Given the description of an element on the screen output the (x, y) to click on. 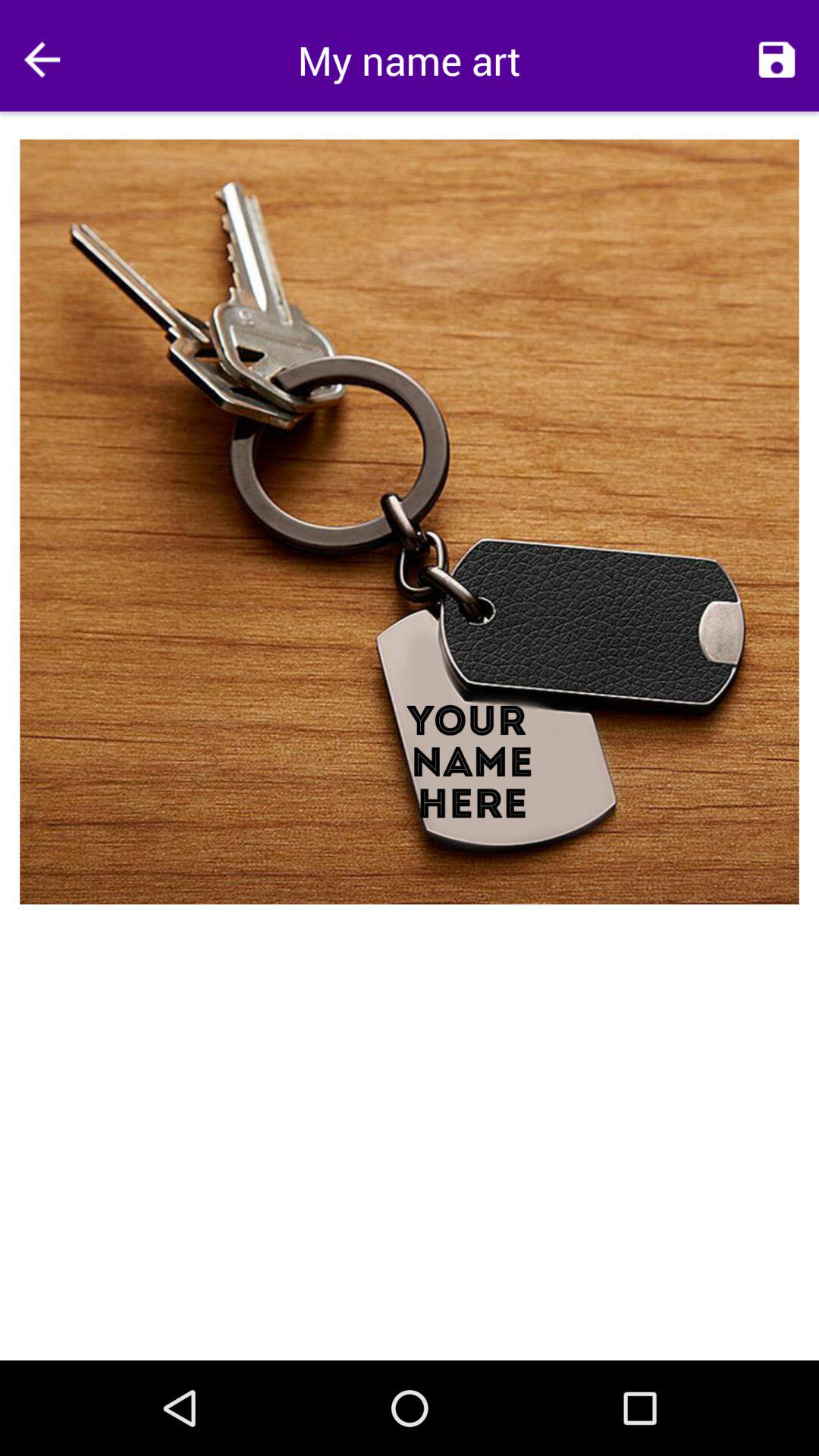
press app next to my name art app (41, 59)
